Given the description of an element on the screen output the (x, y) to click on. 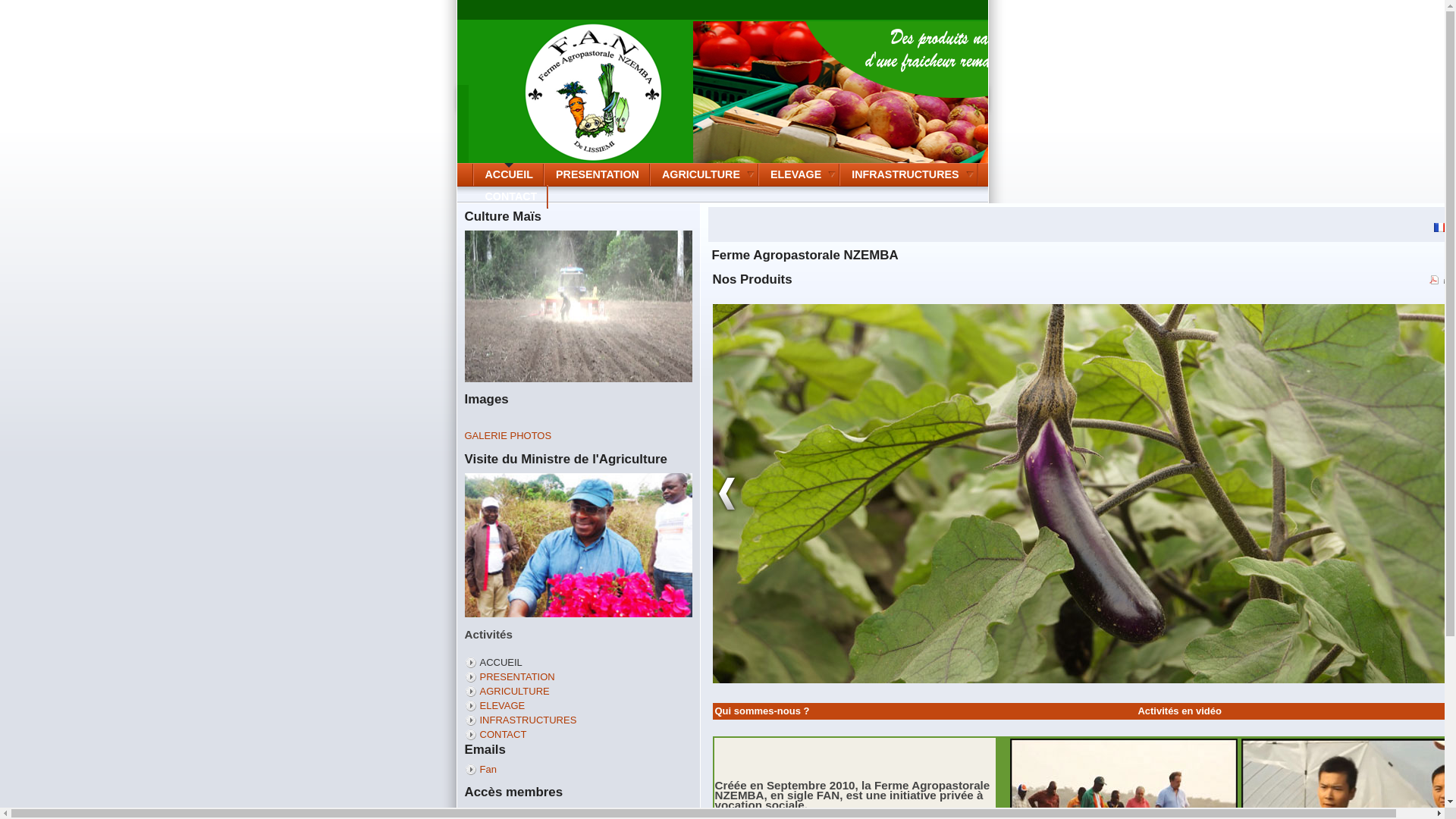
Fan Element type: text (487, 769)
PDF Element type: hover (1434, 280)
PRESENTATION Element type: text (597, 174)
ACCUEIL Element type: text (500, 662)
INFRASTRUCTURES Element type: text (527, 719)
CONTACT Element type: text (502, 734)
ELEVAGE Element type: text (501, 705)
AGRICULTURE Element type: text (514, 690)
French (Fr) Element type: hover (1440, 227)
INFRASTRUCTURES Element type: text (908, 174)
ELEVAGE Element type: text (799, 174)
AGRICULTURE Element type: text (704, 174)
GALERIE PHOTOS Element type: text (507, 435)
ACCUEIL Element type: text (508, 174)
PRESENTATION Element type: text (516, 676)
CONTACT Element type: text (510, 196)
